Given the description of an element on the screen output the (x, y) to click on. 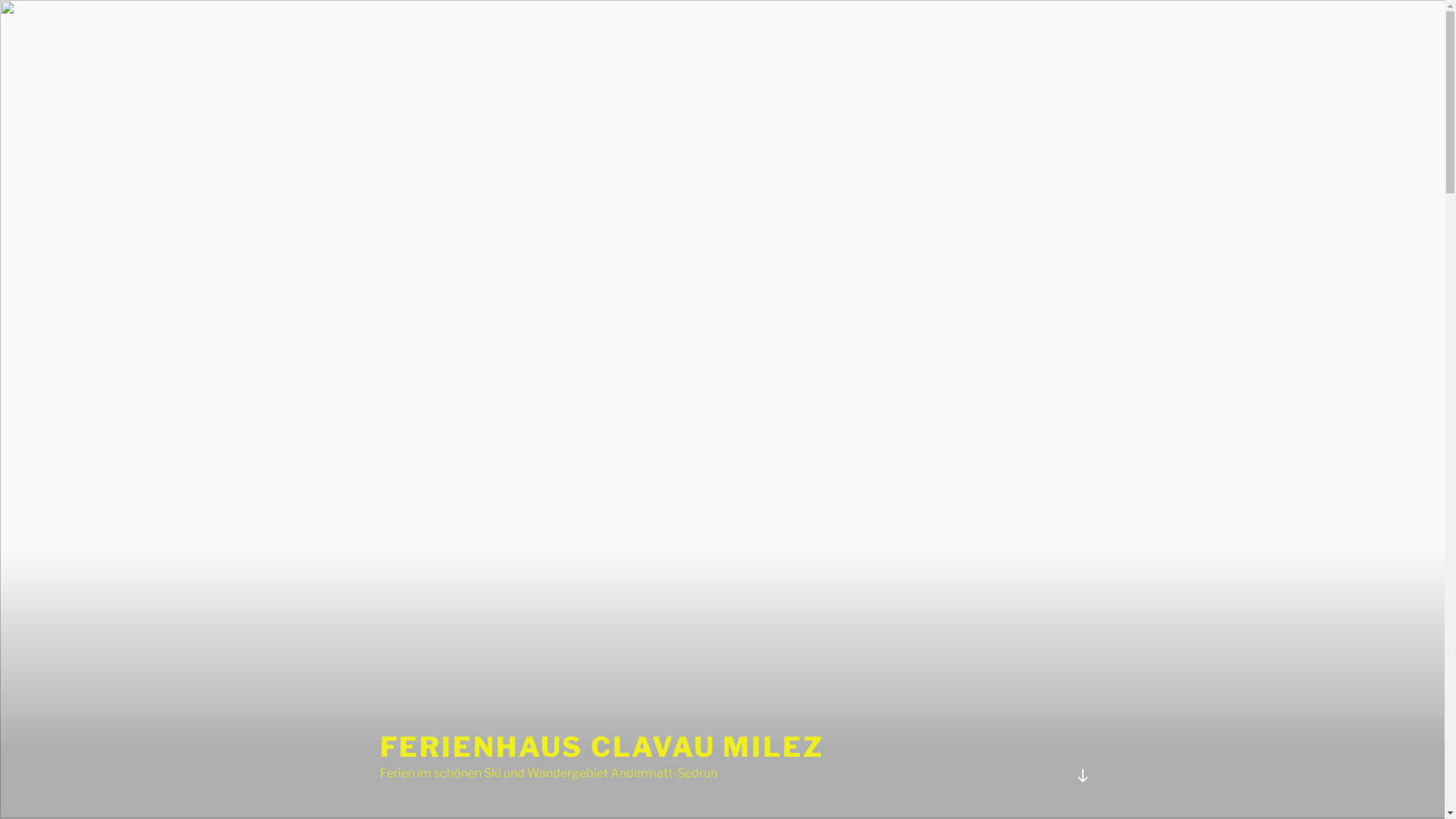
Zum Inhalt nach unten scrollen Element type: text (1082, 775)
FERIENHAUS CLAVAU MILEZ Element type: text (601, 746)
